Given the description of an element on the screen output the (x, y) to click on. 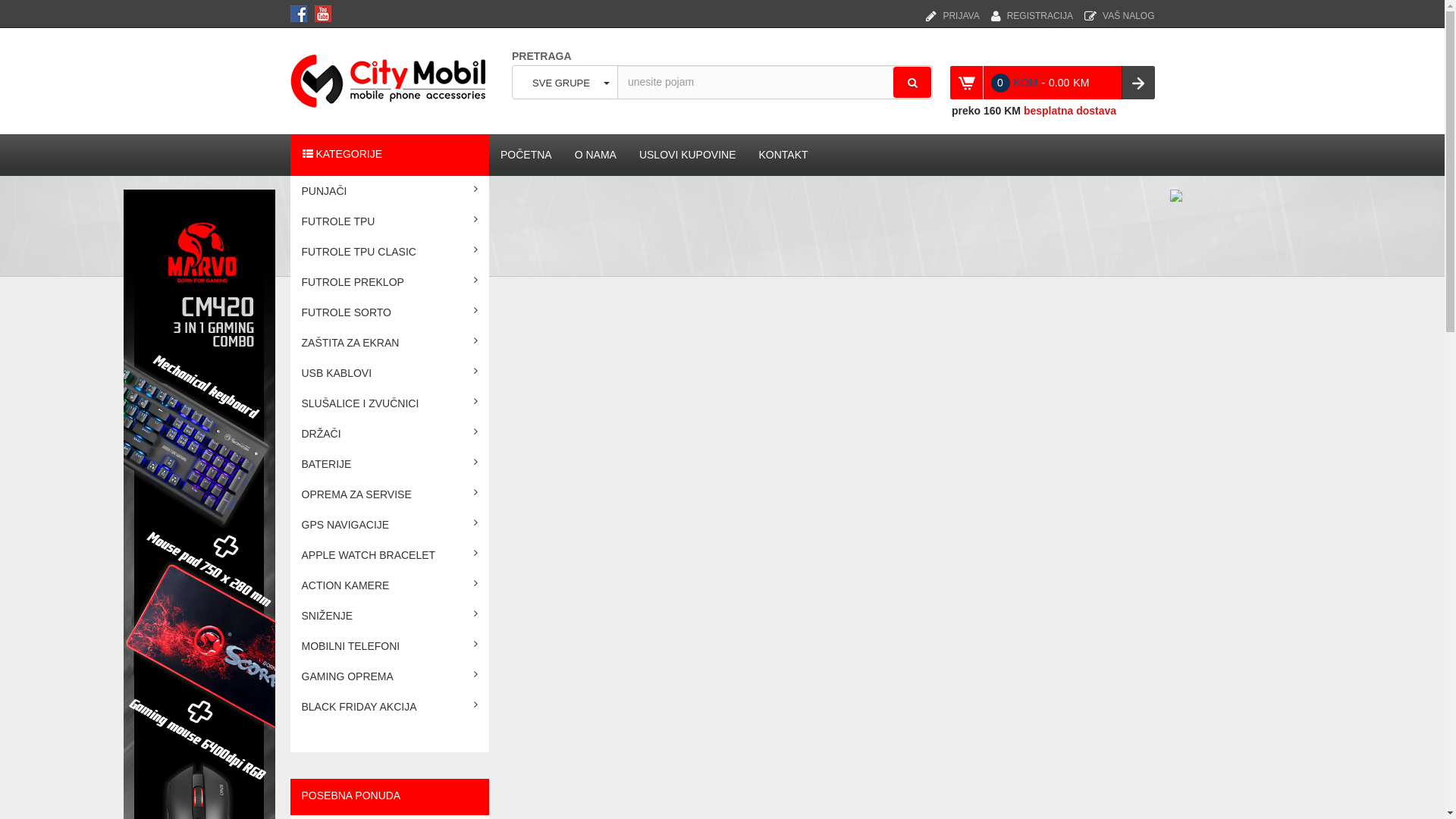
FUTROLE PREKLOP Element type: text (389, 281)
APPLE WATCH BRACELET Element type: text (389, 554)
BATERIJE Element type: text (389, 463)
0
KOM
-
0.00
KM Element type: text (1051, 82)
PRIJAVA Element type: text (952, 9)
MOBILNI TELEFONI Element type: text (389, 645)
GPS NAVIGACIJE Element type: text (389, 524)
FUTROLE TPU Element type: text (389, 221)
USB KABLOVI Element type: text (389, 372)
CITY MOBIL Element type: hover (391, 79)
BLACK FRIDAY AKCIJA Element type: text (389, 706)
GAMING OPREMA Element type: text (389, 676)
O NAMA Element type: text (595, 154)
KONTAKT Element type: text (783, 154)
FUTROLE TPU CLASIC Element type: text (389, 251)
SVE GRUPE Element type: text (564, 82)
KATEGORIJE Element type: text (389, 154)
FUTROLE SORTO Element type: text (389, 312)
USLOVI KUPOVINE Element type: text (687, 154)
REGISTRACIJA Element type: text (1032, 9)
ACTION KAMERE Element type: text (389, 585)
OPREMA ZA SERVISE Element type: text (389, 494)
